Given the description of an element on the screen output the (x, y) to click on. 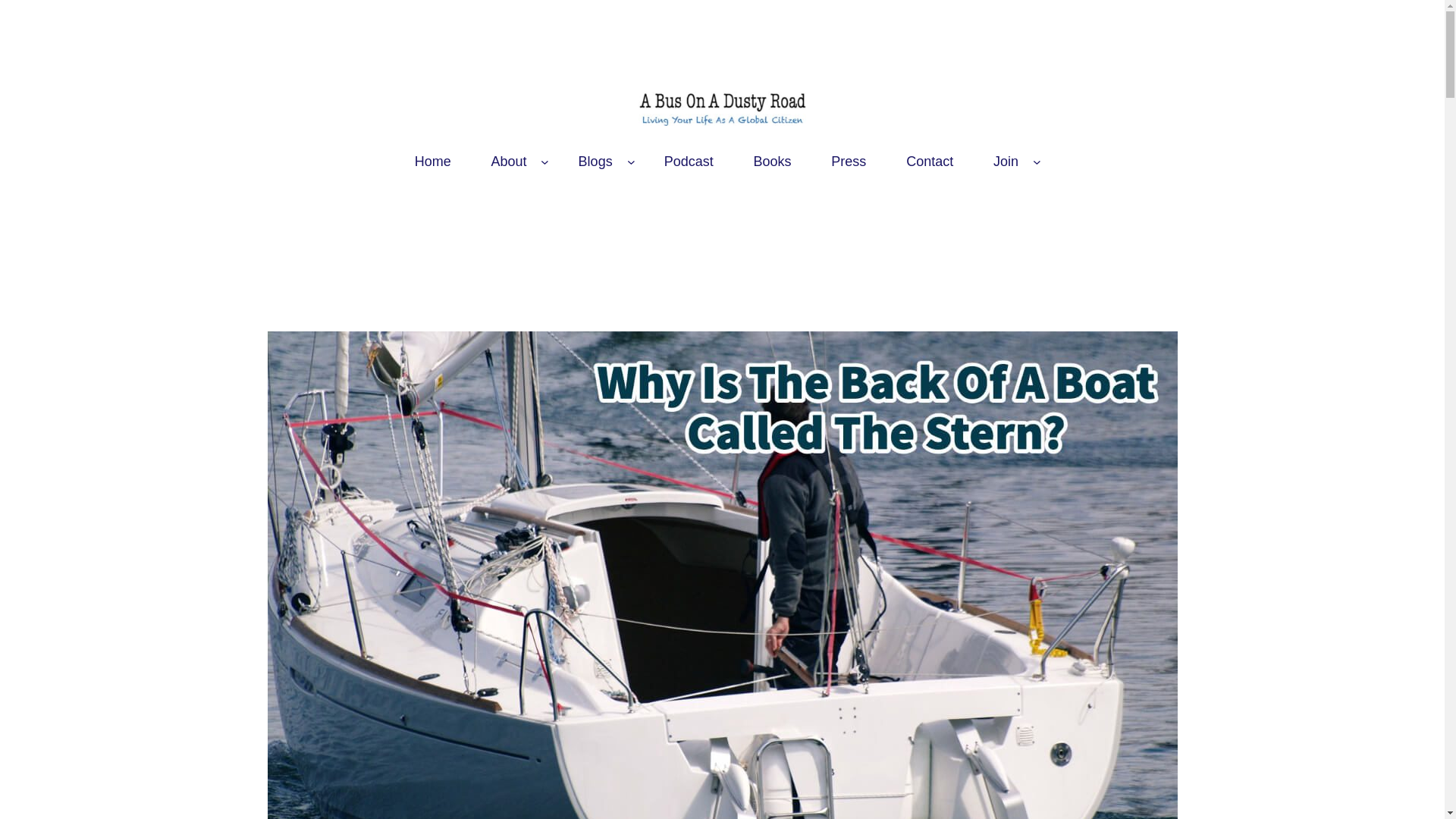
Home (432, 161)
About (508, 161)
Blogs (595, 161)
